Given the description of an element on the screen output the (x, y) to click on. 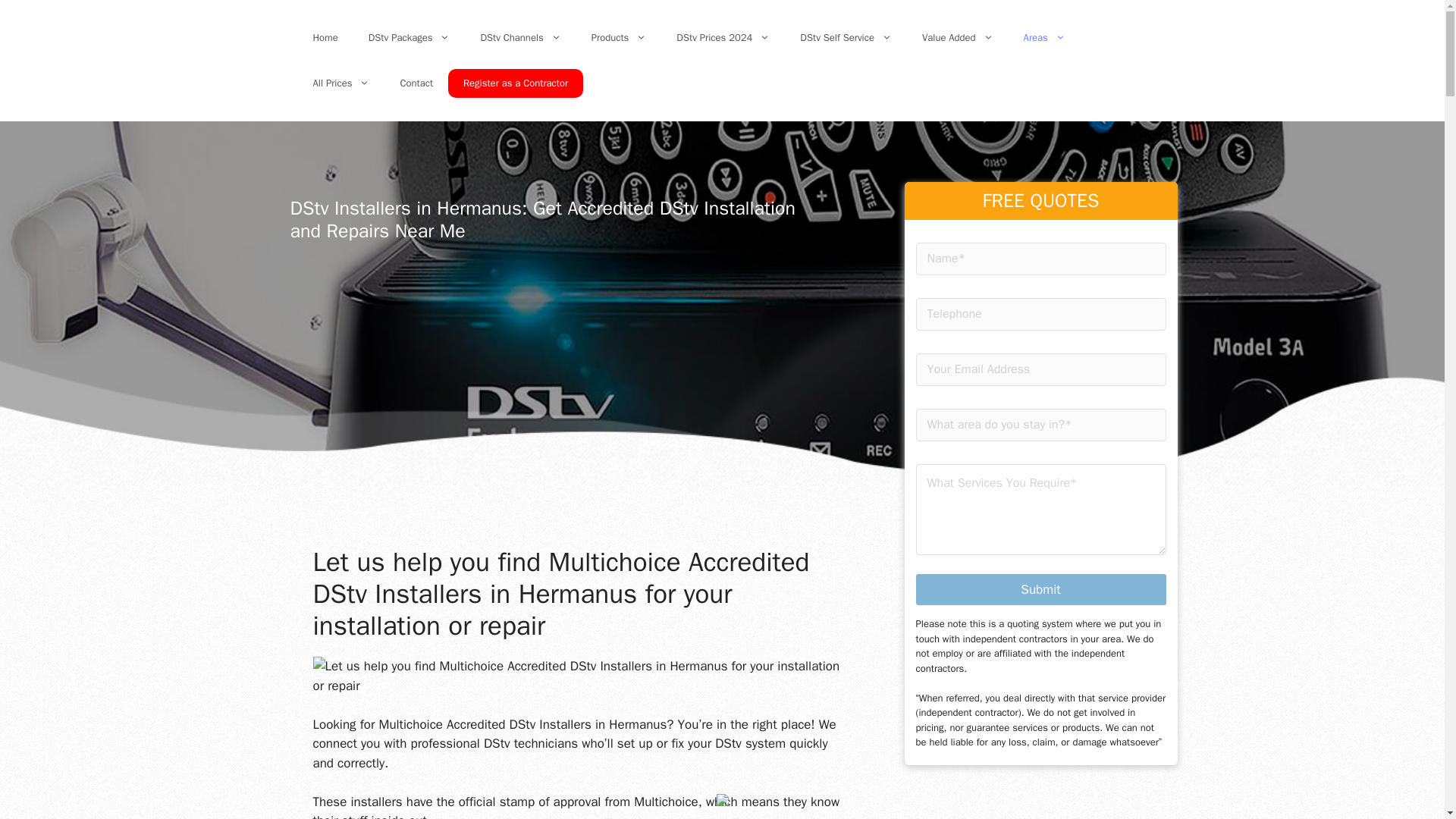
DStv Channels (519, 37)
Products (619, 37)
Home (324, 37)
DStv Packages (409, 37)
